Given the description of an element on the screen output the (x, y) to click on. 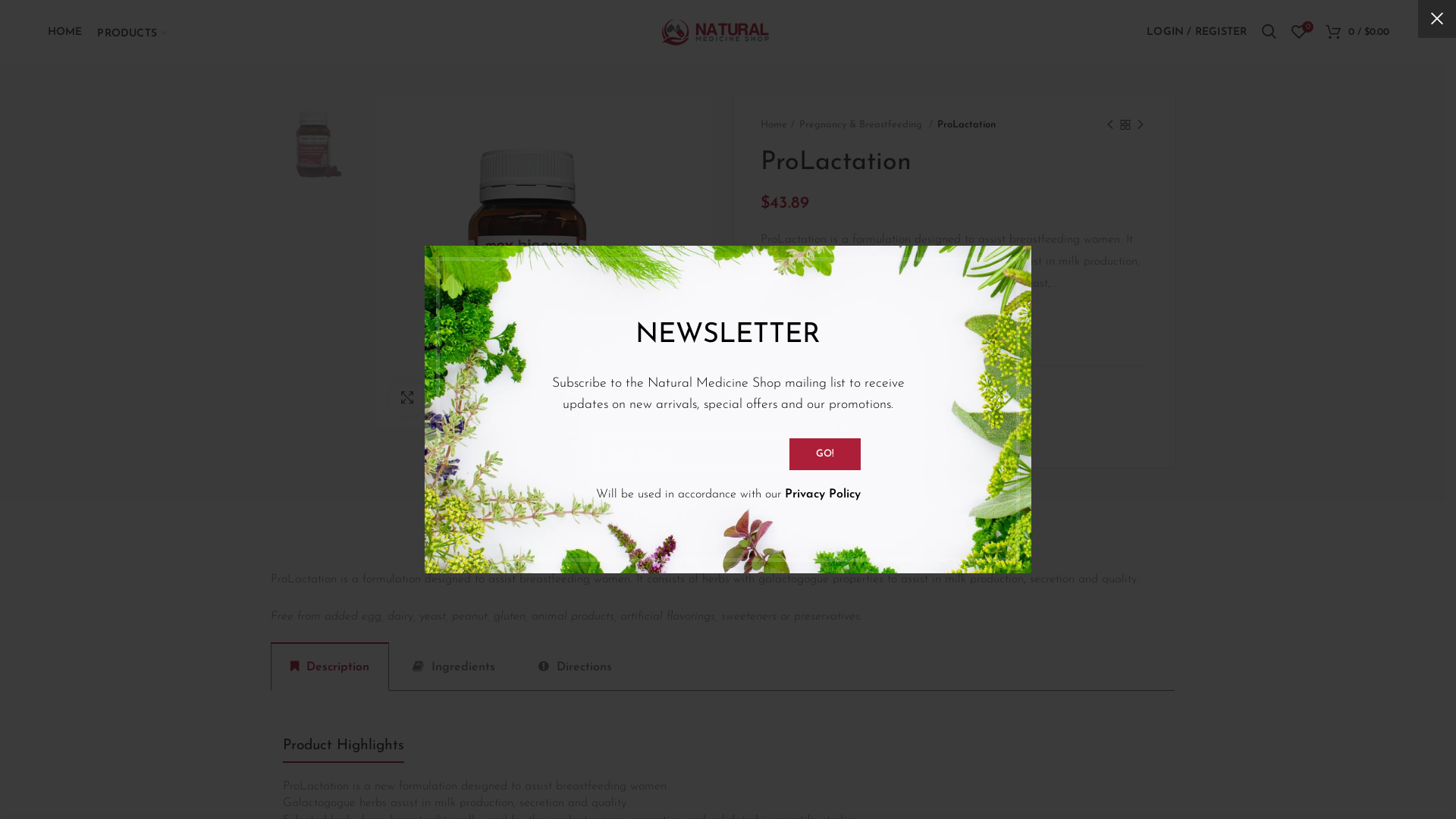
0 / $0.00 Element type: text (1356, 31)
Pregnancy & Breastfeeding Element type: text (884, 415)
PRODUCTS Element type: text (131, 31)
Go! Element type: text (825, 454)
Home Element type: text (776, 124)
HOME Element type: text (65, 31)
PRODUCT OVERVIEW Element type: text (721, 521)
+ Element type: text (811, 329)
0 Element type: text (1298, 31)
Next product Element type: text (1140, 124)
Privacy Policy Element type: text (821, 494)
Previous product Element type: text (1109, 124)
- Element type: text (768, 329)
ADD TO CART Element type: text (883, 329)
LOGIN / REGISTER Element type: text (1196, 31)
Pregnancy & Breastfeeding Element type: text (865, 124)
ProLactation Element type: hover (543, 261)
